Given the description of an element on the screen output the (x, y) to click on. 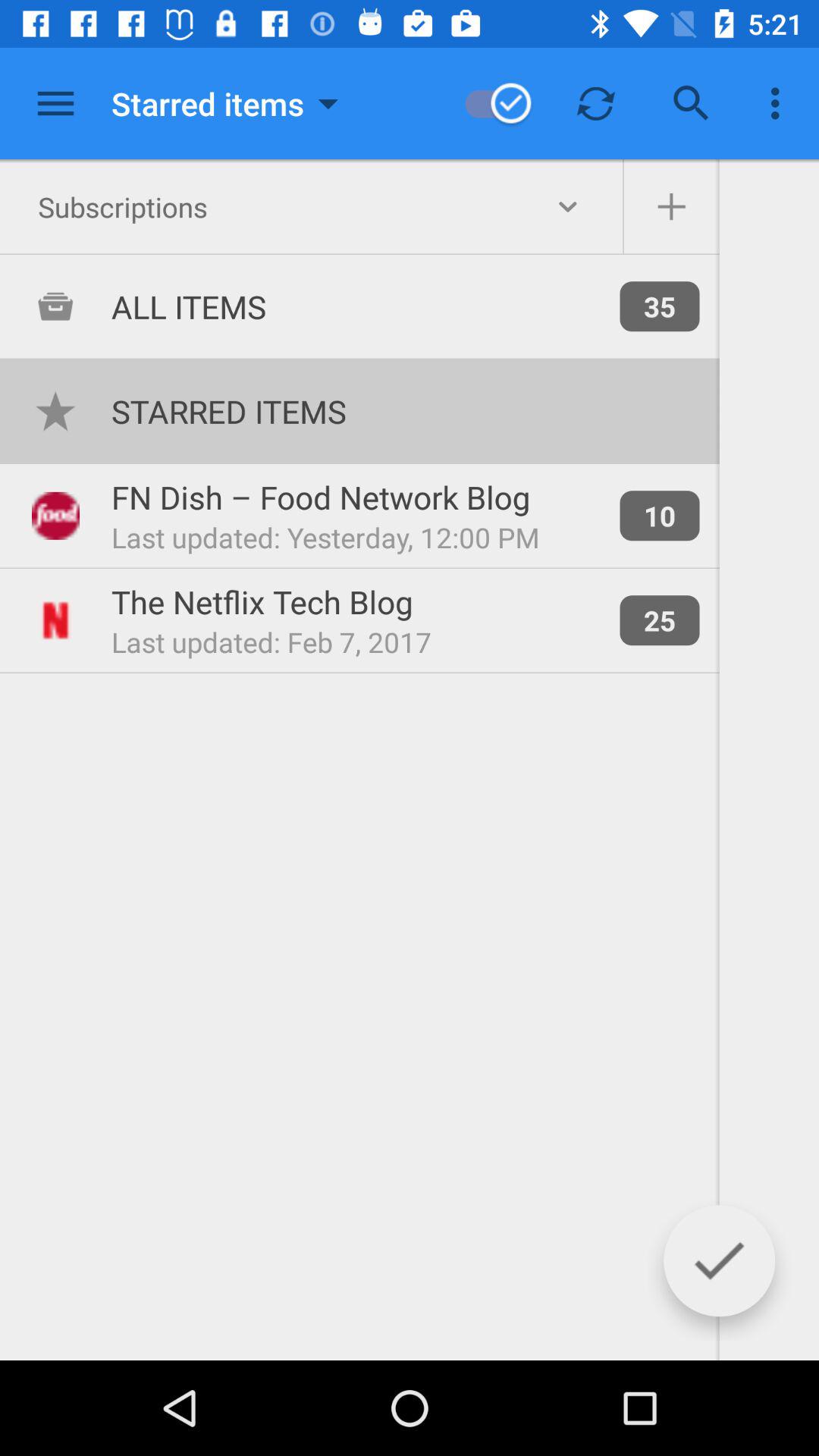
open options (55, 103)
